Given the description of an element on the screen output the (x, y) to click on. 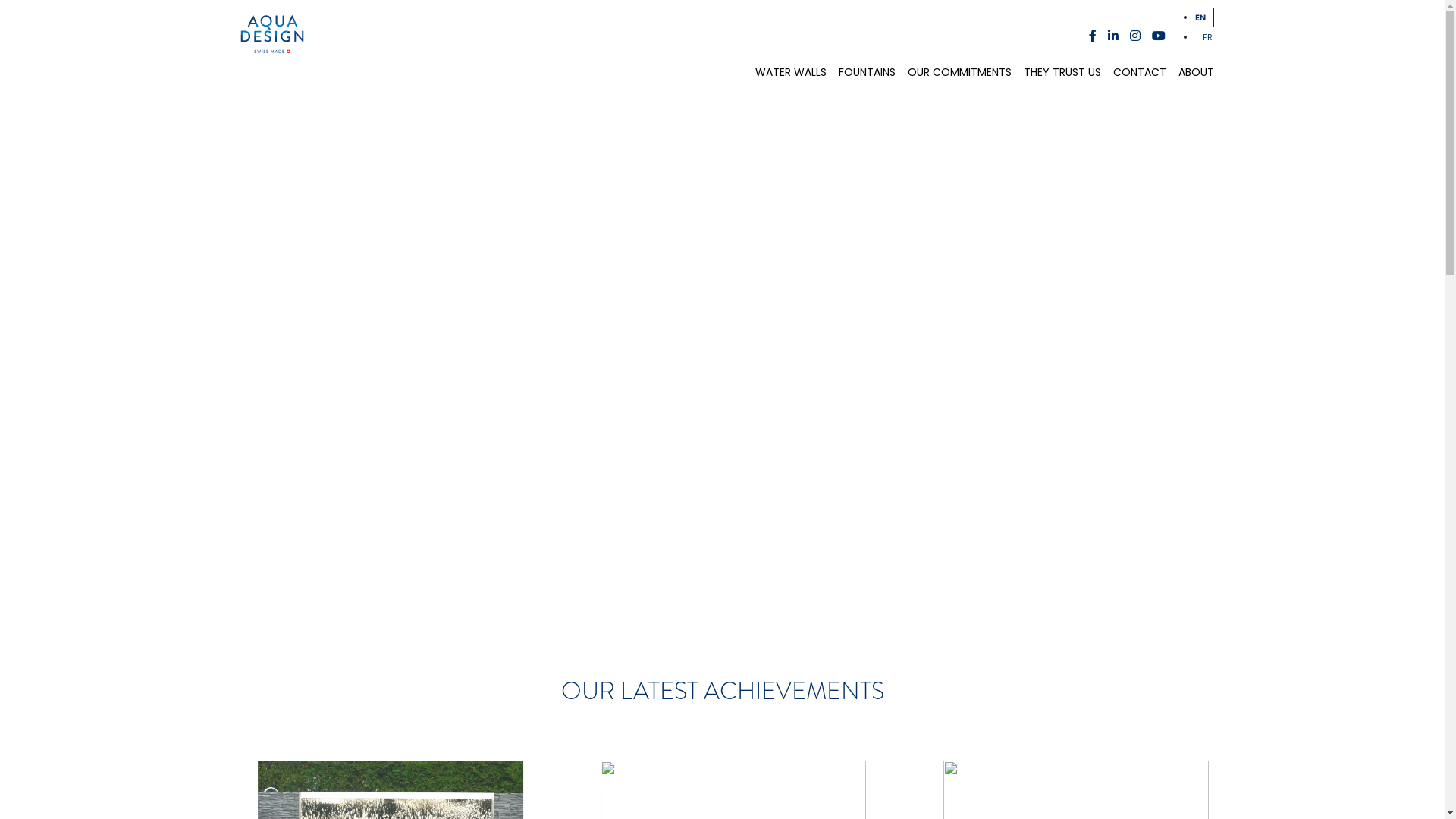
WATER WALLS Element type: text (790, 71)
ABOUT Element type: text (1193, 71)
CONTACT Element type: text (1139, 71)
THEY TRUST US Element type: text (1062, 71)
FR Element type: text (1207, 37)
EN Element type: text (1200, 17)
OUR COMMITMENTS Element type: text (958, 71)
FOUNTAINS Element type: text (866, 71)
